Given the description of an element on the screen output the (x, y) to click on. 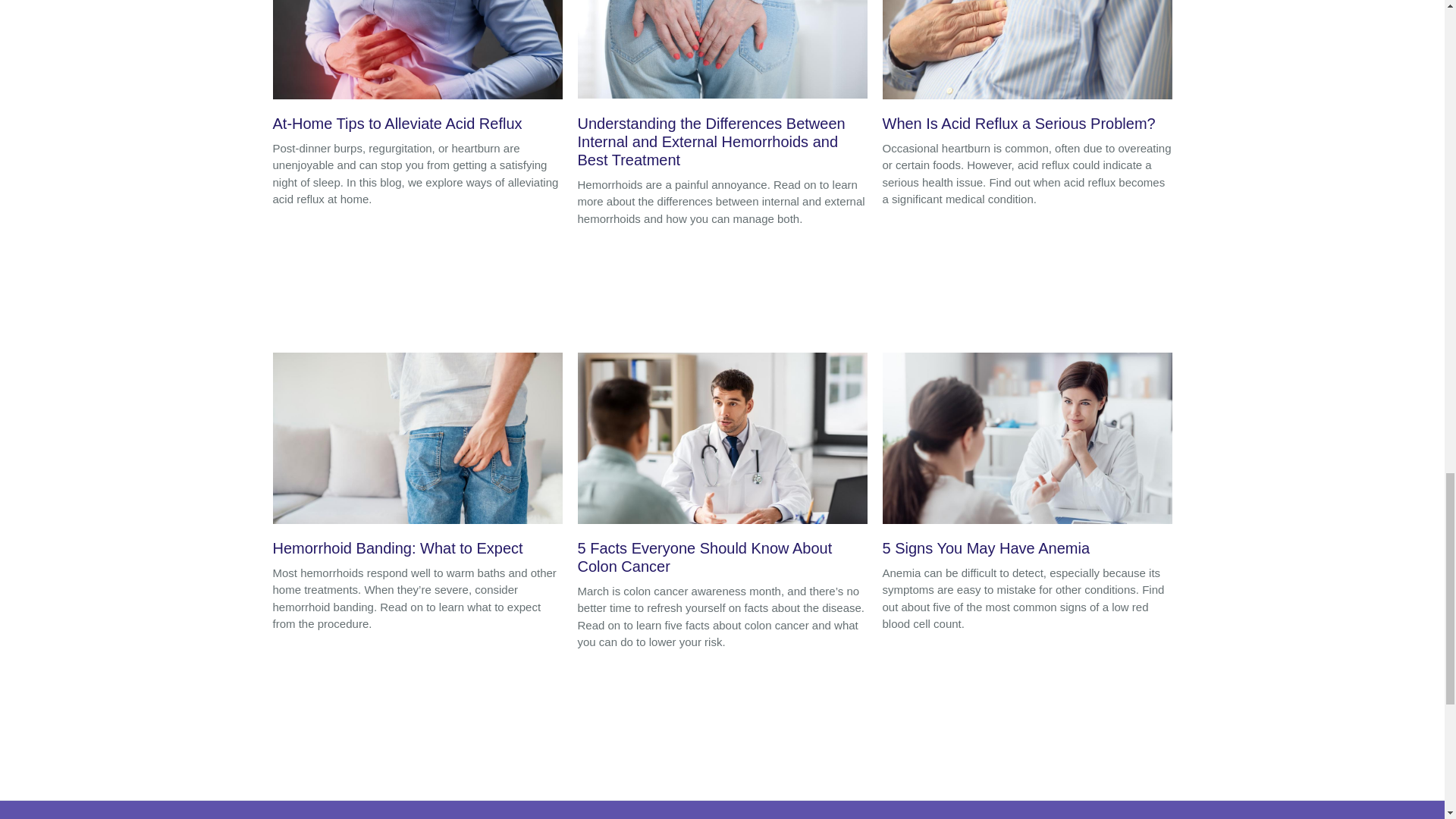
At-Home Tips to Alleviate Acid Reflux (417, 70)
Hemorrhoid Banding: What to Expect (417, 458)
When Is Acid Reflux a Serious Problem? (1027, 70)
